Given the description of an element on the screen output the (x, y) to click on. 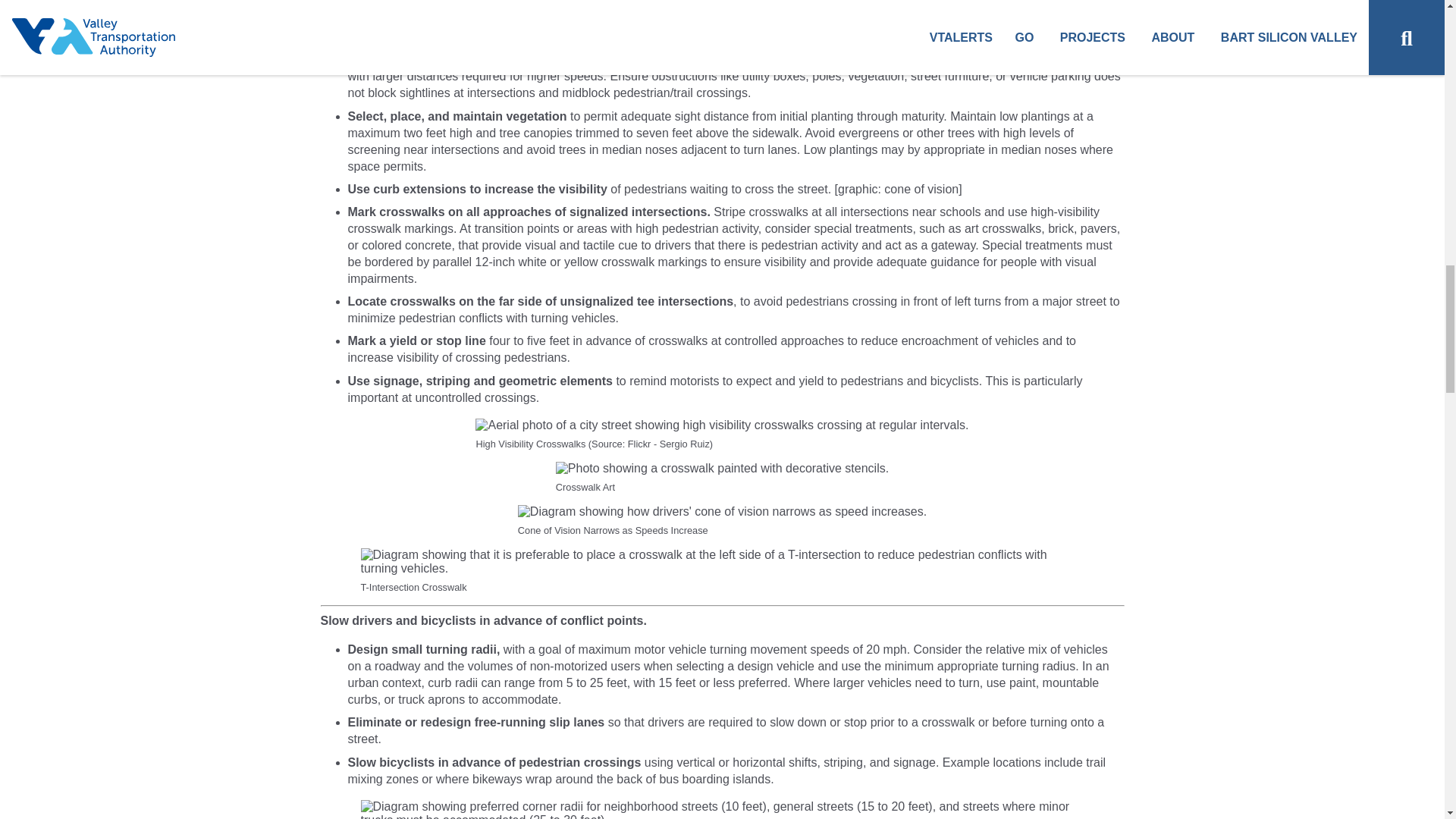
S1-C2.5-G7Crosswalkart.jpg (722, 468)
S1C2.5G6-2ndStSF-Flickr-SergioRuiz.jpg (722, 425)
S1C2.5G10-T-IntersectionCrosswalk.jpg (722, 561)
S1C2.5G11-VariableTurningRadii.jpg (722, 809)
